Given the description of an element on the screen output the (x, y) to click on. 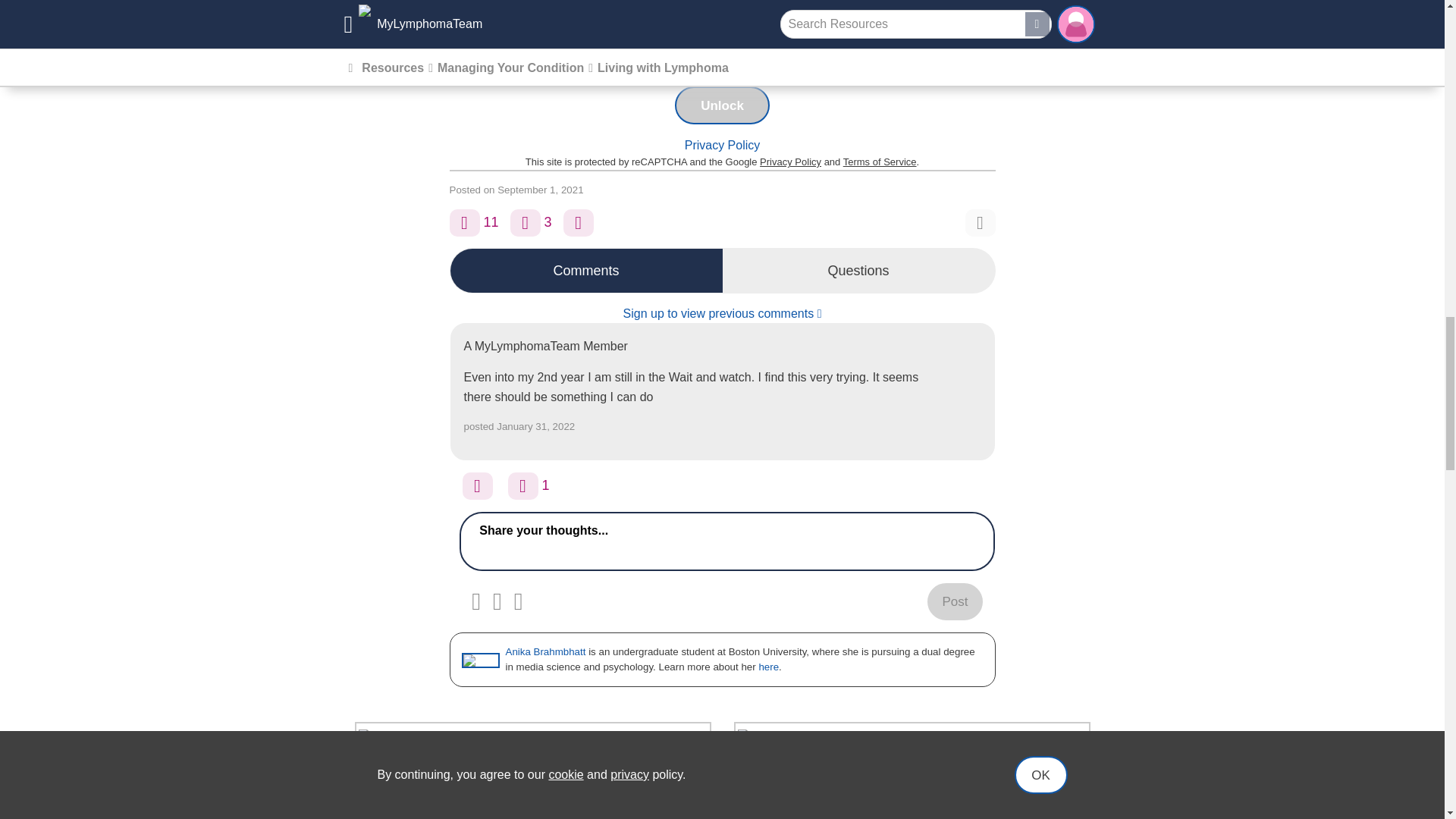
Unlock (722, 105)
Ask a question (578, 222)
Add a comment (525, 222)
Send a hug (478, 485)
submit (954, 601)
I like this (463, 222)
I like this (523, 485)
